Given the description of an element on the screen output the (x, y) to click on. 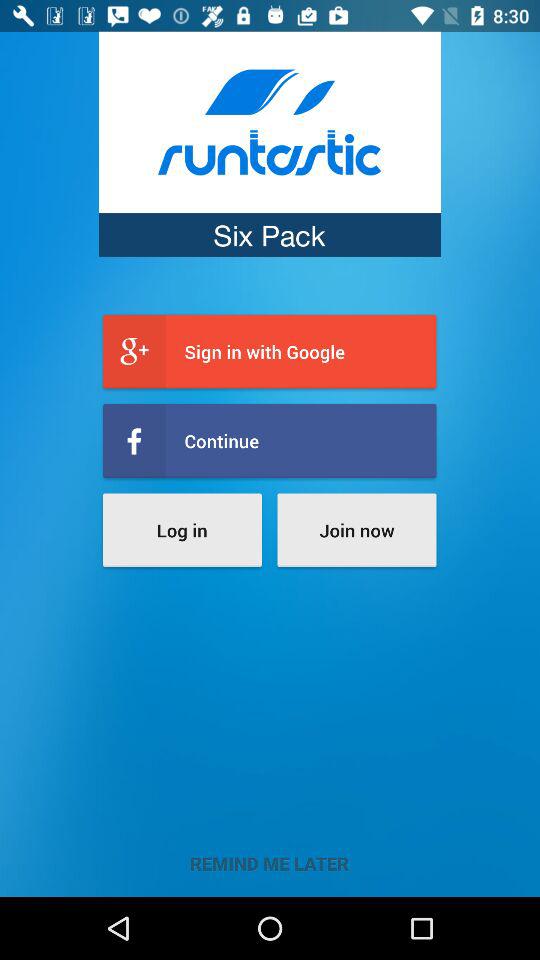
turn on continue icon (269, 440)
